Given the description of an element on the screen output the (x, y) to click on. 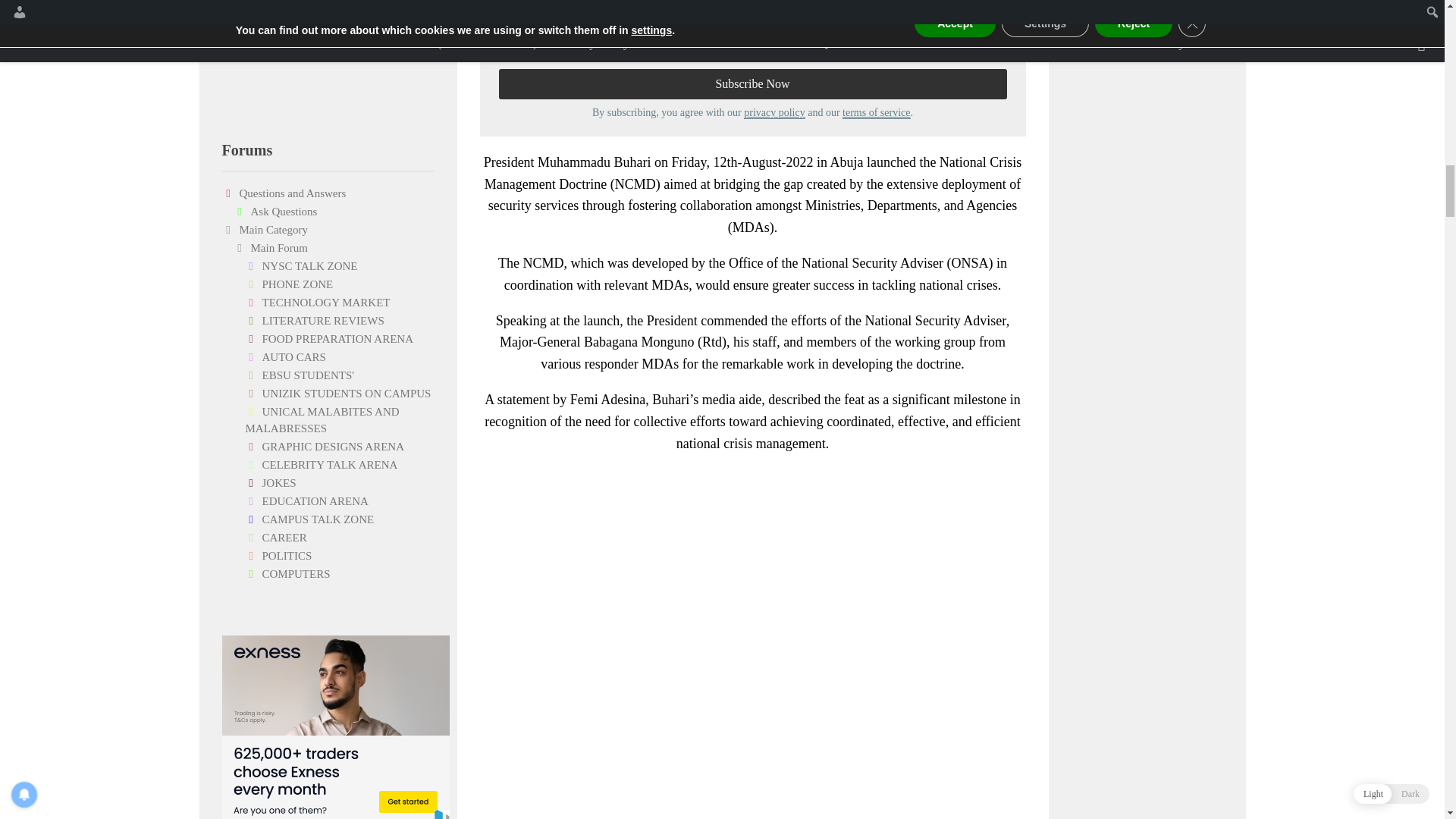
Subscribe Now (752, 83)
